Given the description of an element on the screen output the (x, y) to click on. 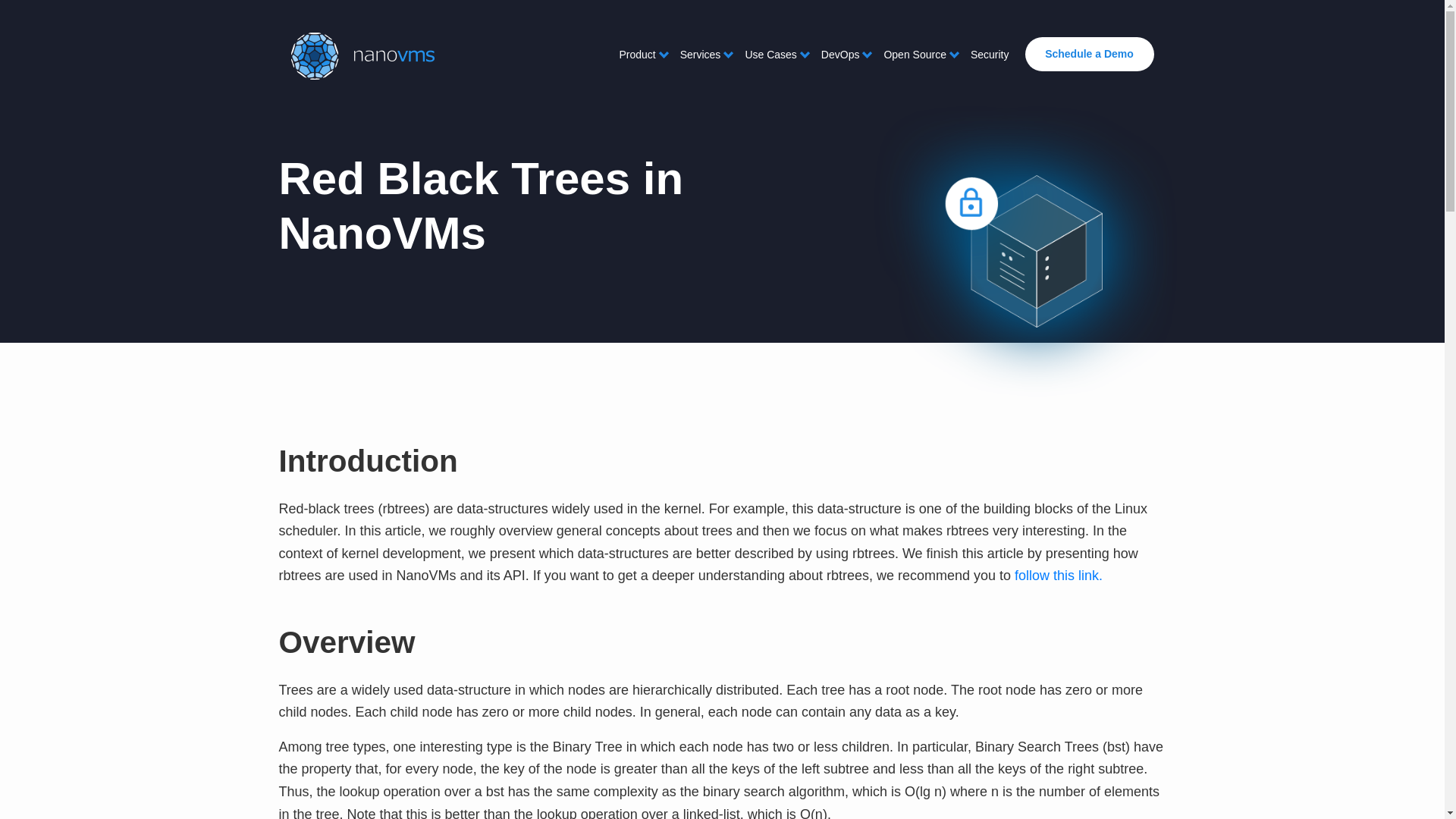
follow this link. (1058, 575)
Open Source (914, 54)
Security (990, 54)
Schedule a Demo (1089, 53)
Product (636, 54)
Use Cases (770, 54)
Services (700, 54)
DevOps (840, 54)
